Given the description of an element on the screen output the (x, y) to click on. 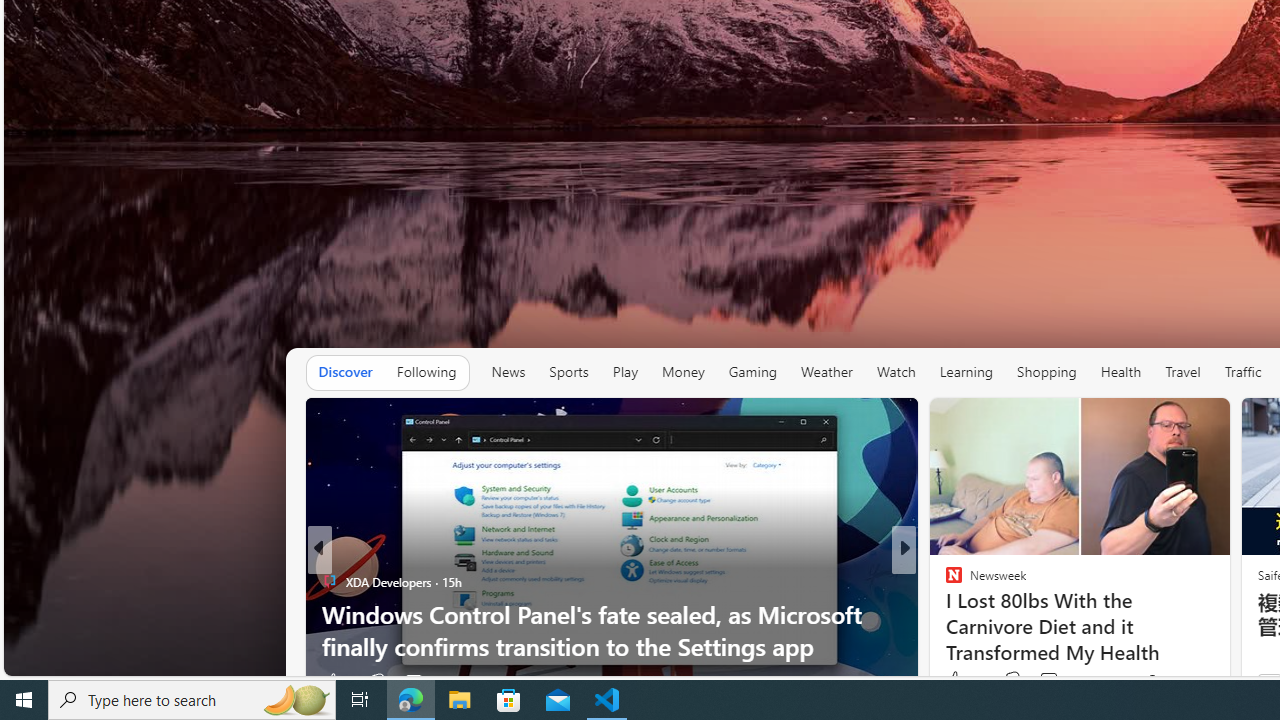
View comments 31 Comment (1051, 681)
Shopping (1046, 372)
View comments 13 Comment (1042, 681)
Body Network (944, 581)
View comments 19 Comment (1042, 681)
Simply Recipes (944, 581)
Shopping (1047, 371)
Food Republic (944, 614)
